Given the description of an element on the screen output the (x, y) to click on. 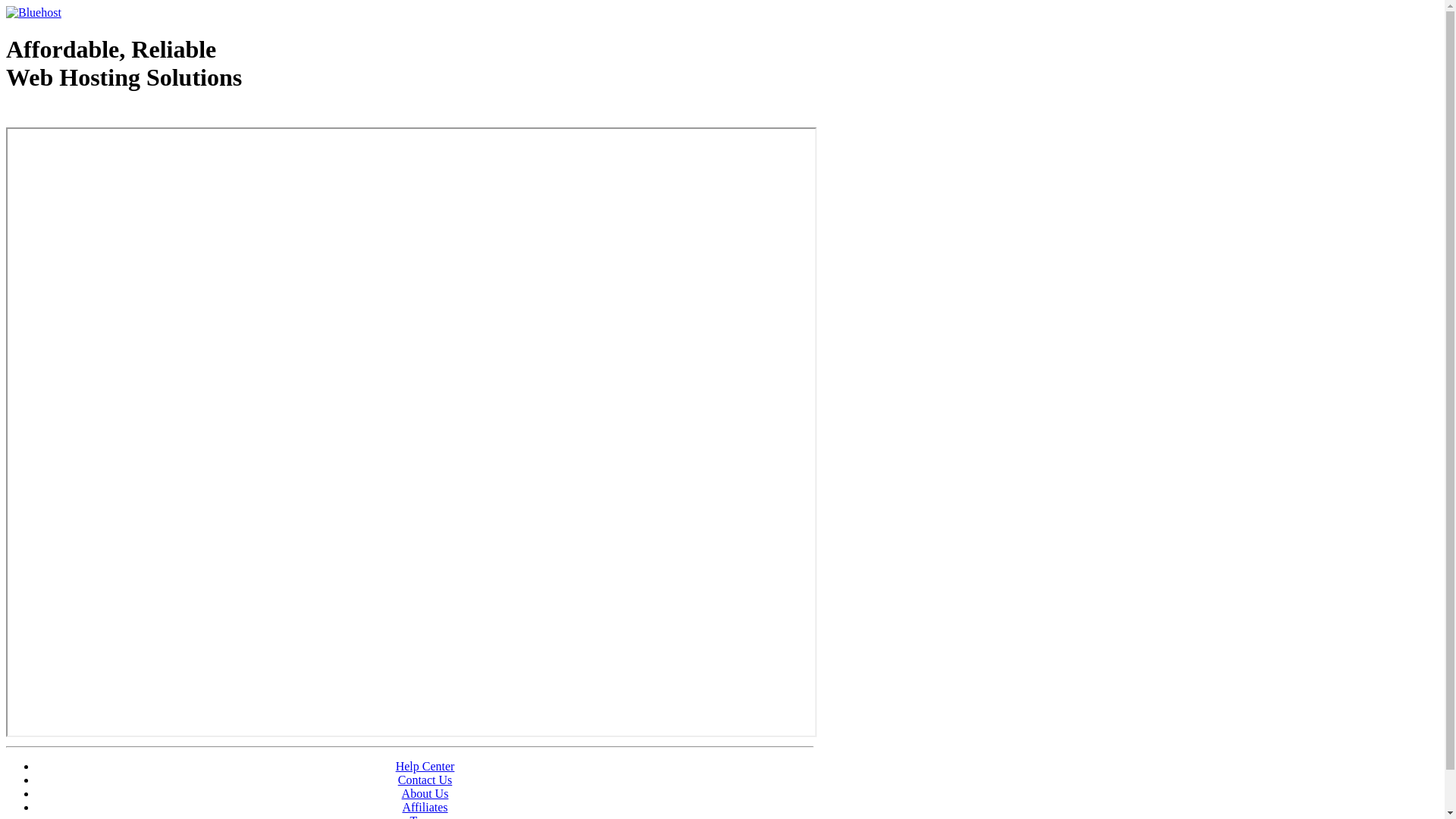
Contact Us Element type: text (425, 779)
Web Hosting - courtesy of www.bluehost.com Element type: text (94, 115)
Affiliates Element type: text (424, 806)
Help Center Element type: text (425, 765)
About Us Element type: text (424, 793)
